Given the description of an element on the screen output the (x, y) to click on. 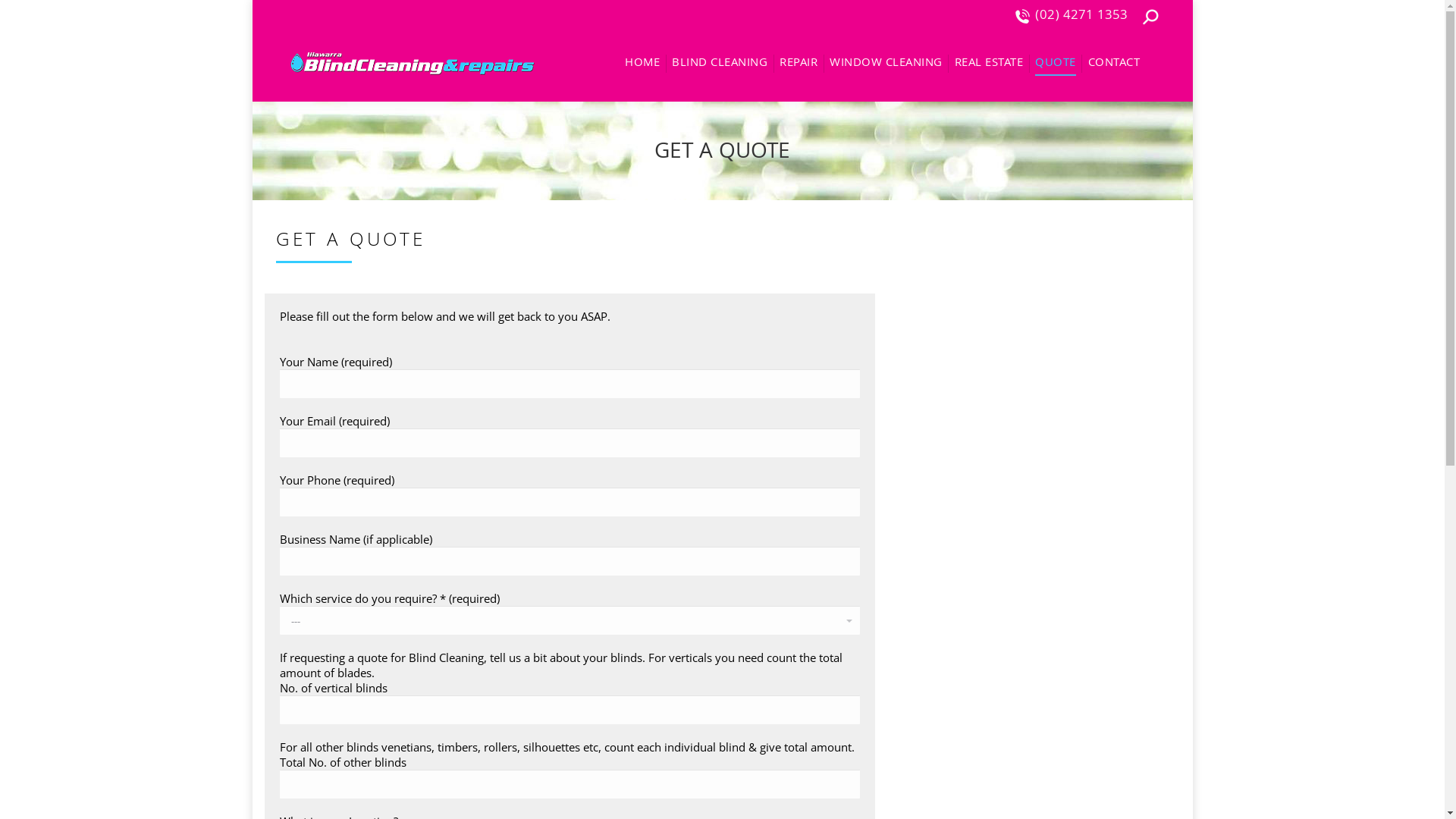
REAL ESTATE Element type: text (988, 63)
QUOTE Element type: text (1055, 63)
Go! Element type: text (23, 15)
REPAIR Element type: text (798, 63)
BLIND CLEANING Element type: text (719, 63)
HOME Element type: text (641, 63)
CONTACT Element type: text (1113, 63)
(02) 4271 1353 Element type: text (1070, 16)
WINDOW CLEANING Element type: text (885, 63)
